Given the description of an element on the screen output the (x, y) to click on. 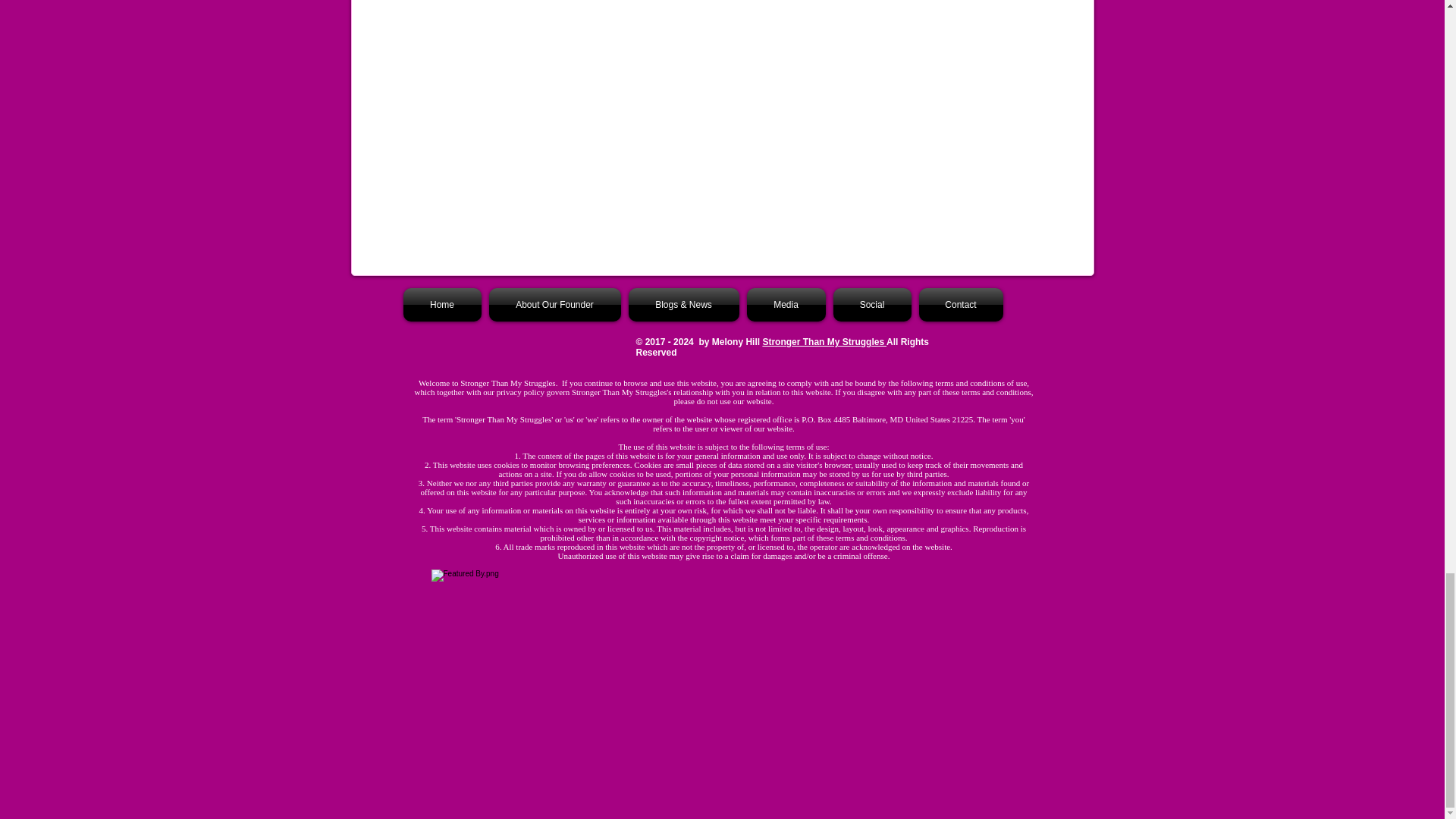
Social (872, 304)
Media (785, 304)
Home (443, 304)
Stronger Than My Struggles (823, 341)
About Our Founder (554, 304)
Contact (958, 304)
